Given the description of an element on the screen output the (x, y) to click on. 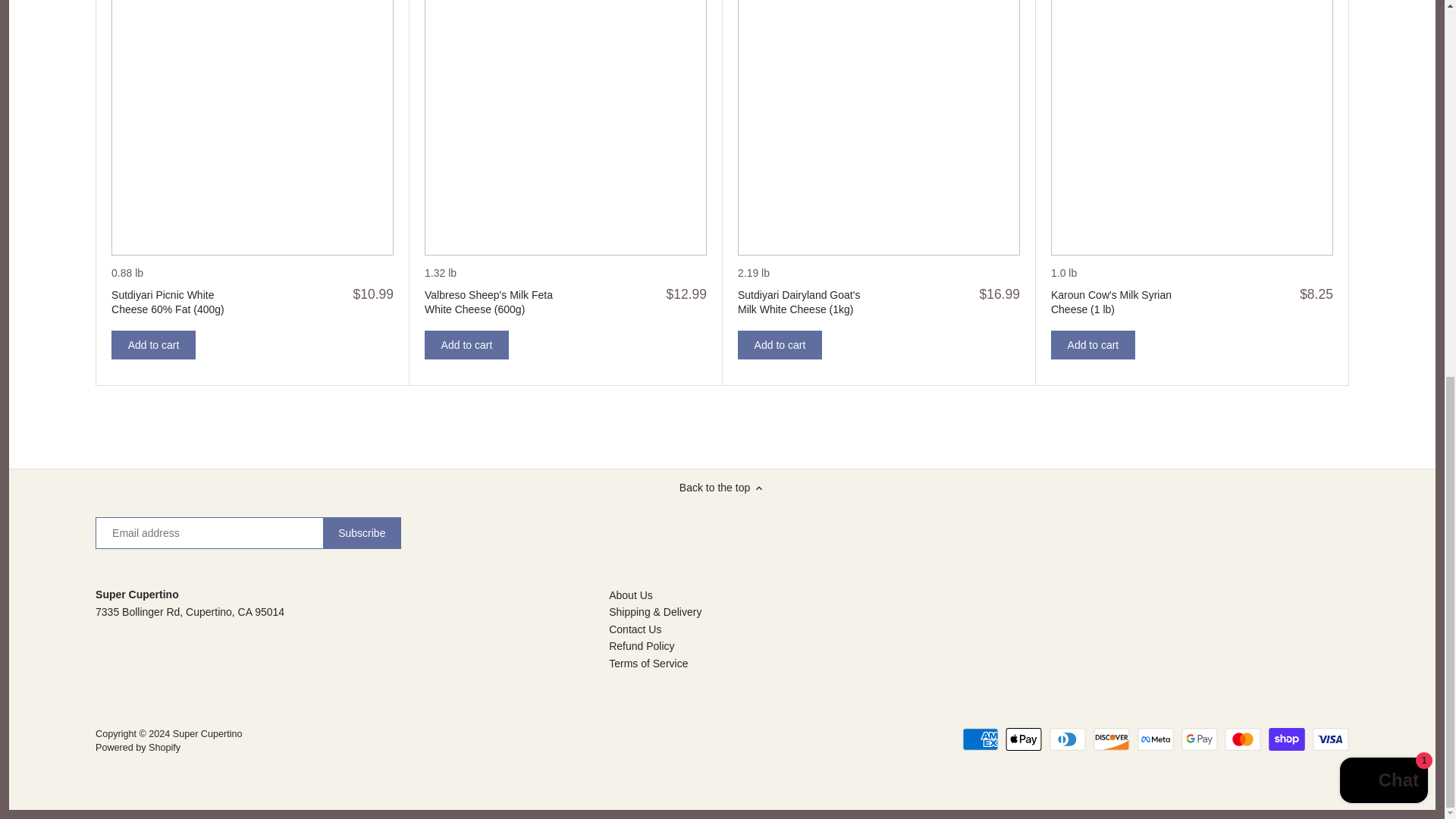
Meta Pay (1155, 739)
Visa (1331, 739)
Google Pay (1198, 739)
Discover (1111, 739)
Mastercard (1242, 739)
Shopify online store chat (1383, 88)
Apple Pay (1024, 739)
Diners Club (1067, 739)
American Express (980, 739)
Shop Pay (1286, 739)
Subscribe (362, 532)
